Given the description of an element on the screen output the (x, y) to click on. 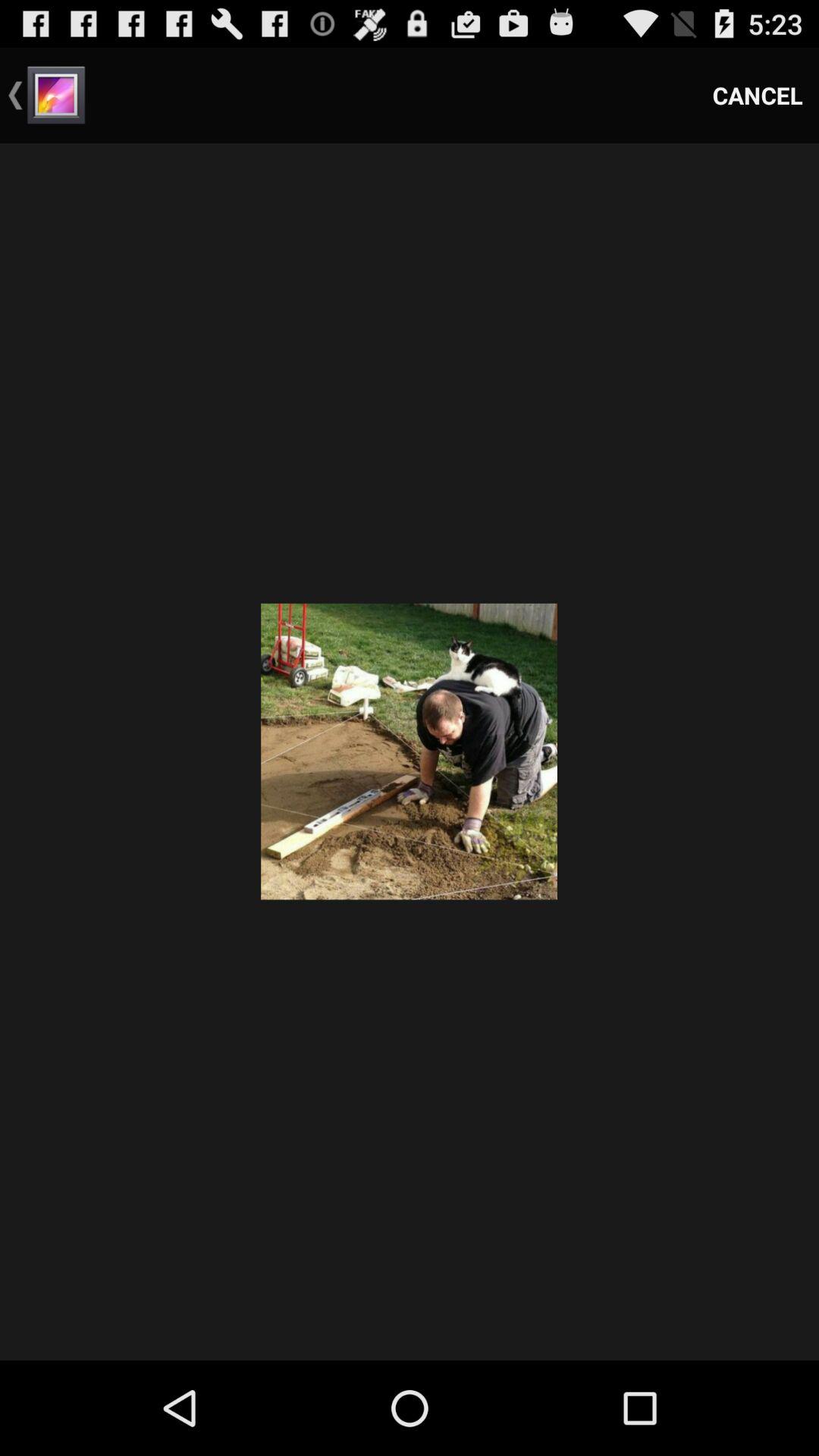
jump until the cancel item (757, 95)
